Given the description of an element on the screen output the (x, y) to click on. 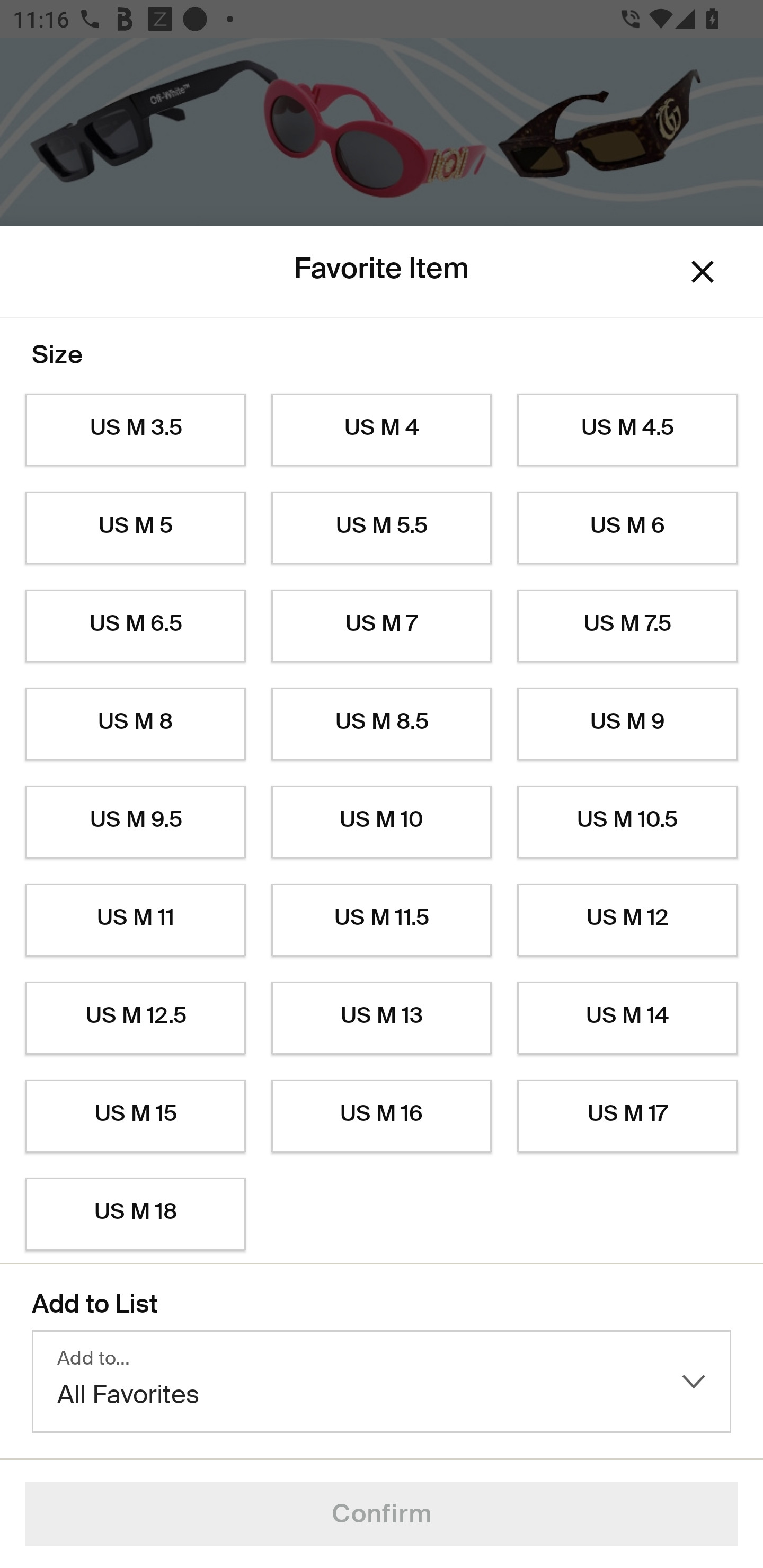
Dismiss (702, 271)
US M 3.5 (135, 430)
US M 4 (381, 430)
US M 4.5 (627, 430)
US M 5 (135, 527)
US M 5.5 (381, 527)
US M 6 (627, 527)
US M 6.5 (135, 626)
US M 7 (381, 626)
US M 7.5 (627, 626)
US M 8 (135, 724)
US M 8.5 (381, 724)
US M 9 (627, 724)
US M 9.5 (135, 822)
US M 10 (381, 822)
US M 10.5 (627, 822)
US M 11 (135, 919)
US M 11.5 (381, 919)
US M 12 (627, 919)
US M 12.5 (135, 1018)
US M 13 (381, 1018)
US M 14 (627, 1018)
US M 15 (135, 1116)
US M 16 (381, 1116)
US M 17 (627, 1116)
US M 18 (135, 1214)
Add to… All Favorites (381, 1381)
Confirm (381, 1513)
